Given the description of an element on the screen output the (x, y) to click on. 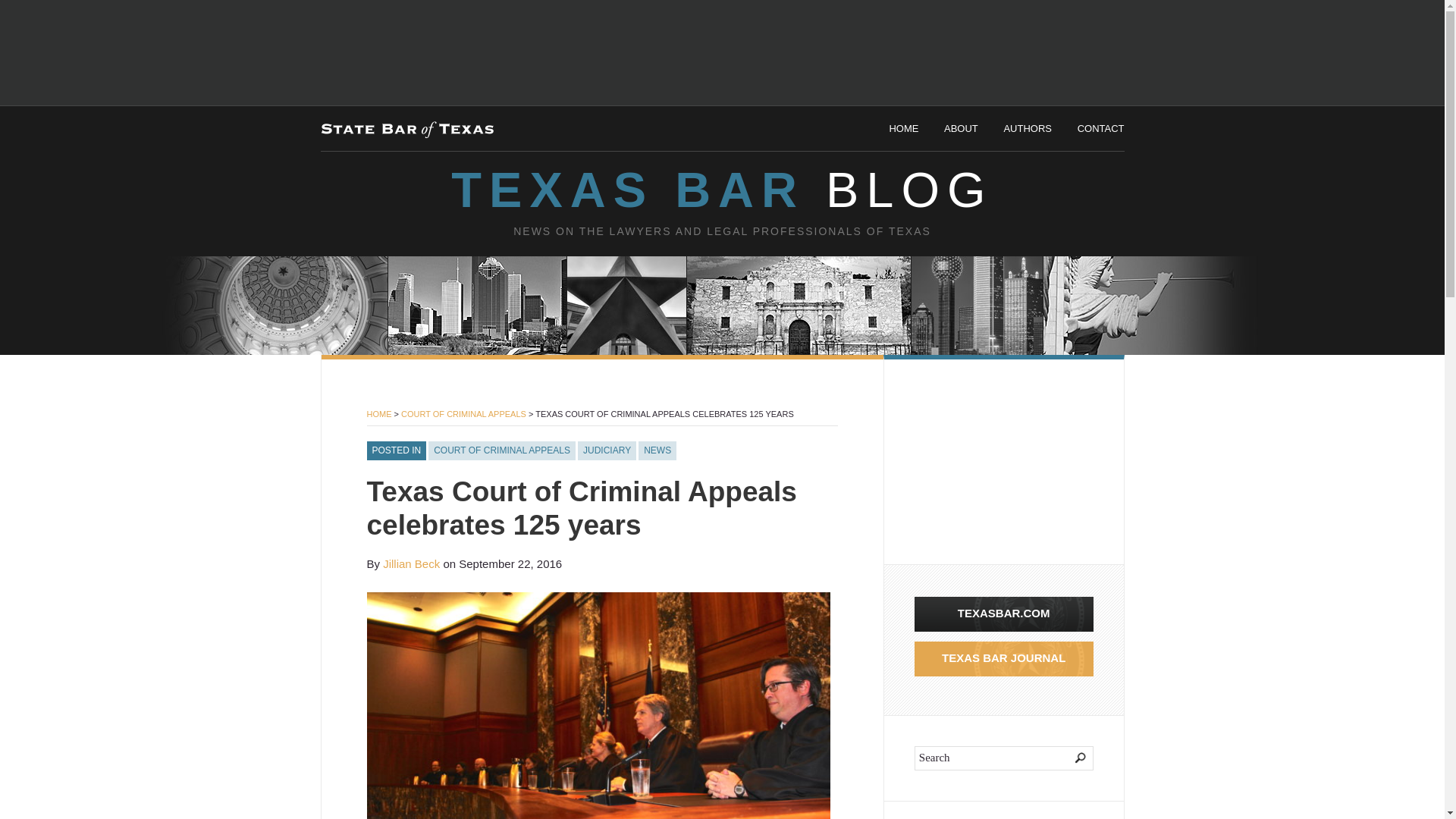
Go (1070, 757)
CONTACT (1100, 128)
NEWS (658, 451)
JUDICIARY (607, 451)
COURT OF CRIMINAL APPEALS (501, 451)
HOME (903, 128)
ABOUT (960, 128)
COURT OF CRIMINAL APPEALS (463, 413)
TEXASBAR.COM (1003, 613)
Search (1003, 758)
